Given the description of an element on the screen output the (x, y) to click on. 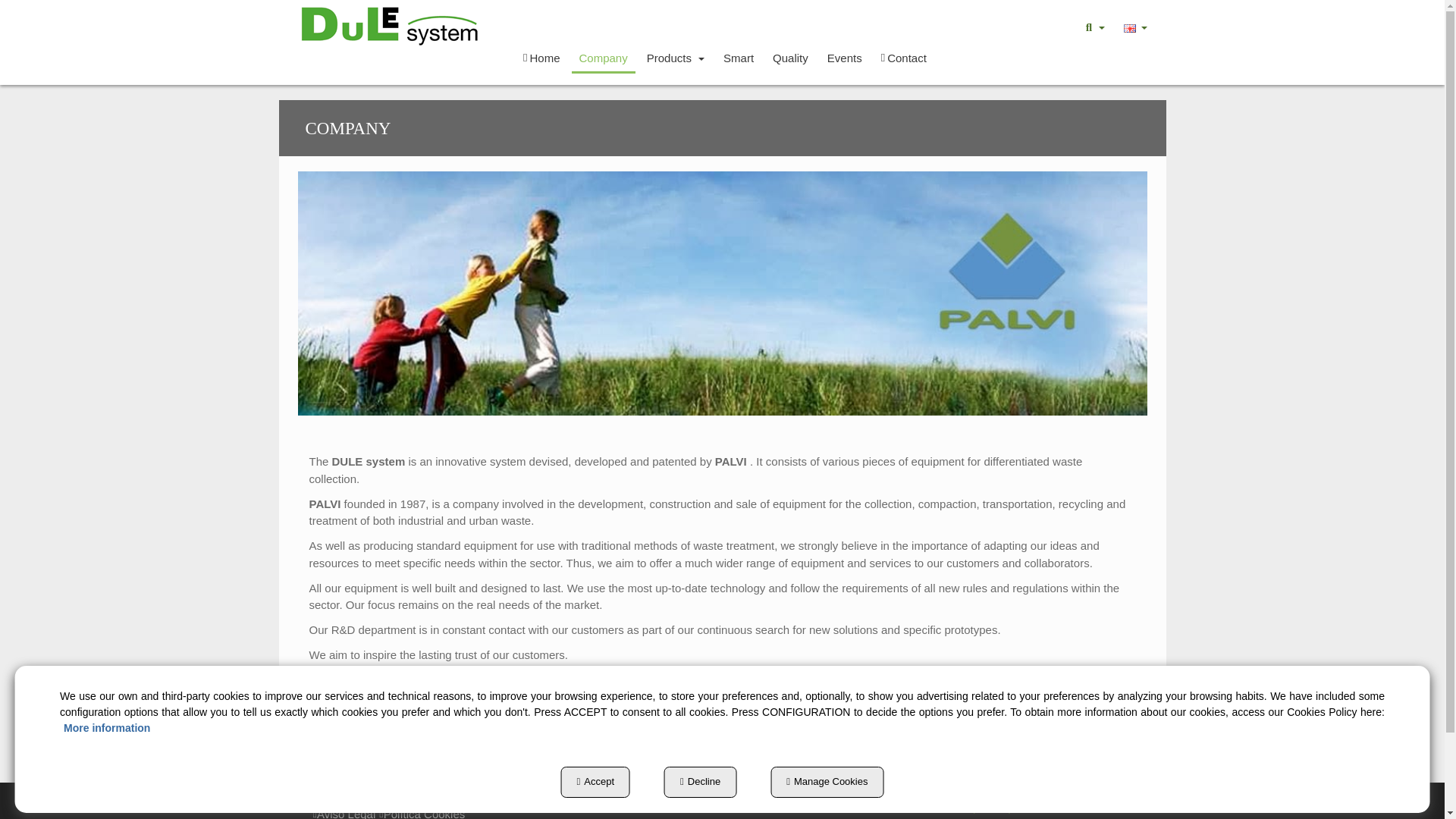
Events (844, 57)
Smart (738, 57)
English (1129, 28)
Home (541, 57)
Contact (903, 57)
Products (675, 57)
Quality (790, 57)
Company (603, 57)
